Given the description of an element on the screen output the (x, y) to click on. 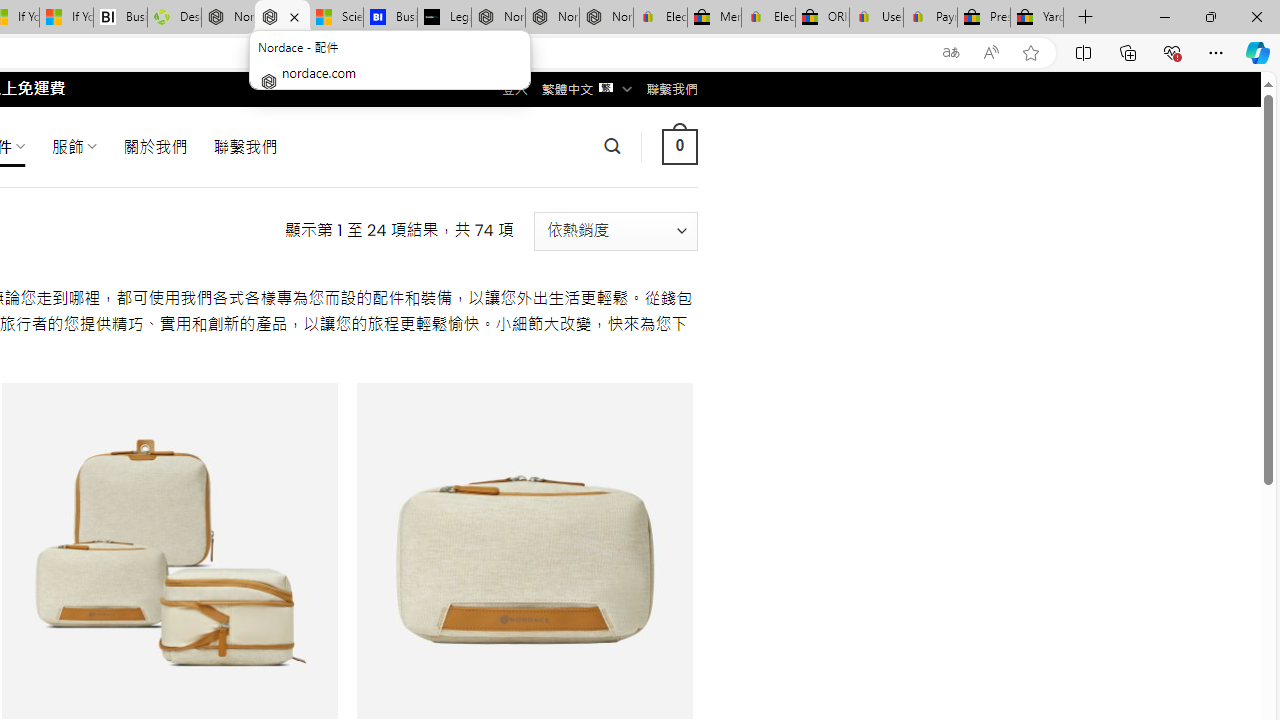
Payments Terms of Use | eBay.com (930, 17)
